Given the description of an element on the screen output the (x, y) to click on. 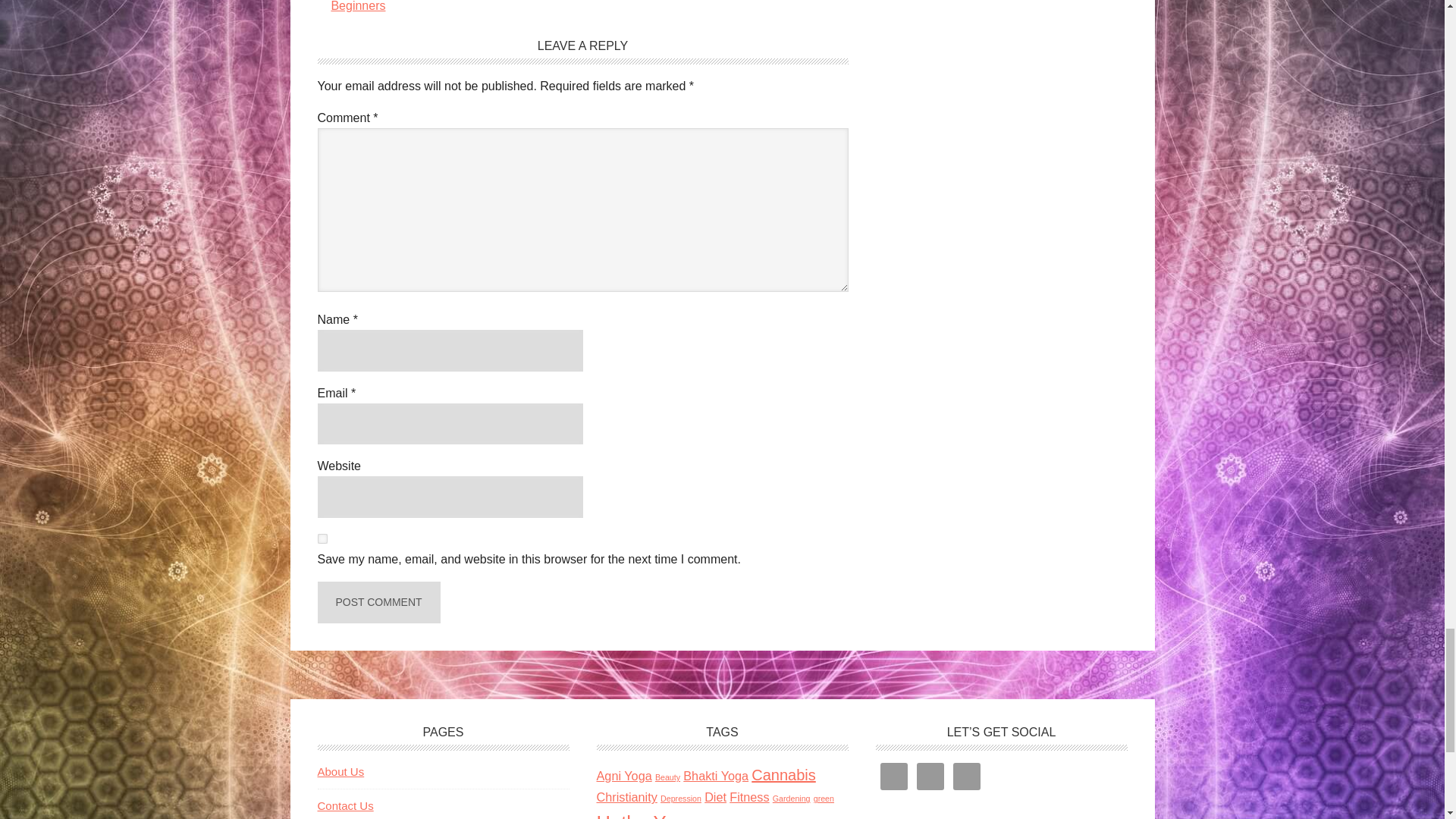
Contact Us (344, 805)
yes (321, 538)
Post Comment (378, 602)
Agni Yoga (622, 775)
Post Comment (378, 602)
Permanent Link to Meditation Techniques For Beginners (400, 6)
Meditation Techniques For Beginners (400, 6)
About Us (340, 771)
